Given the description of an element on the screen output the (x, y) to click on. 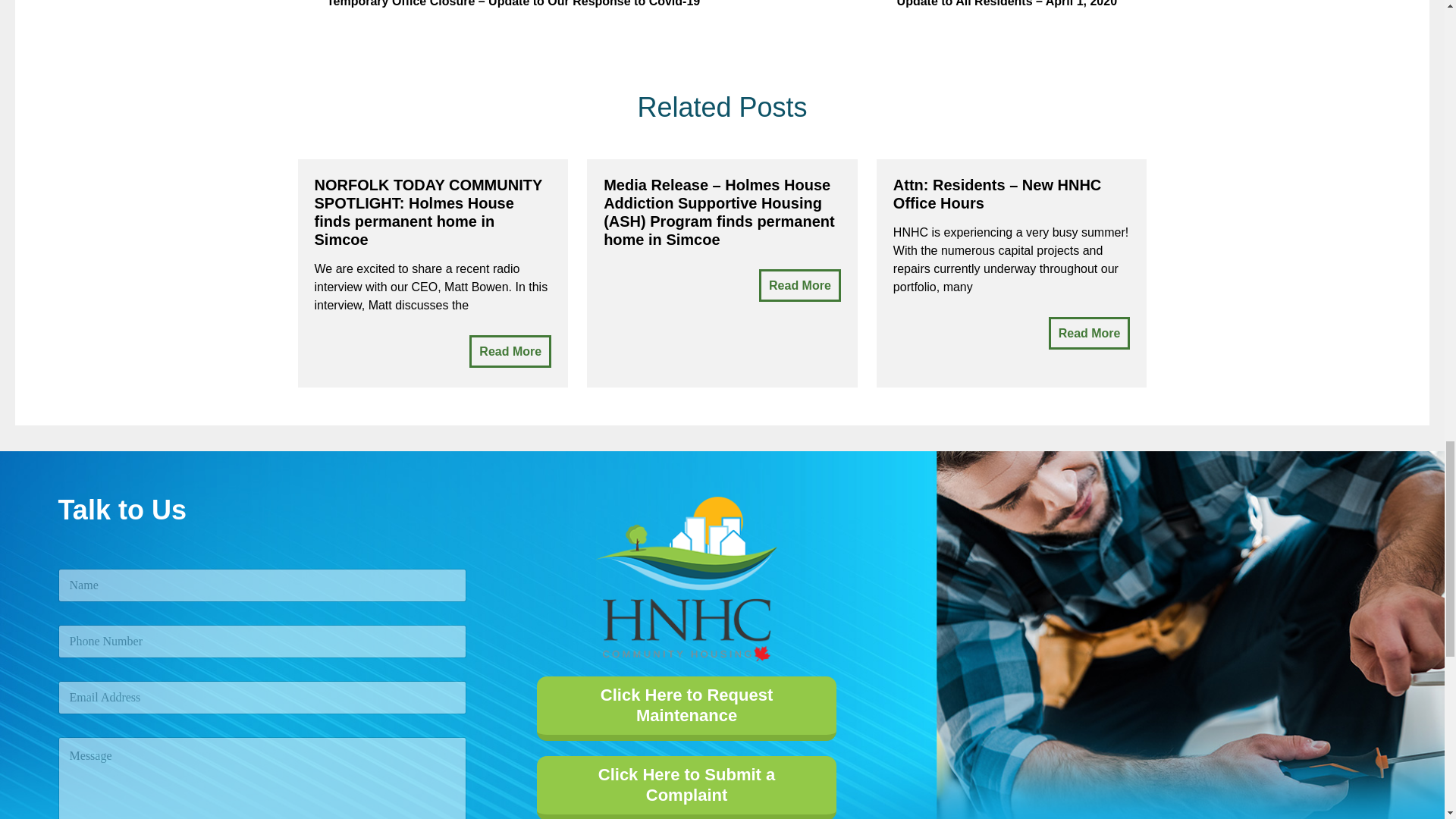
footer-logo (686, 578)
